Given the description of an element on the screen output the (x, y) to click on. 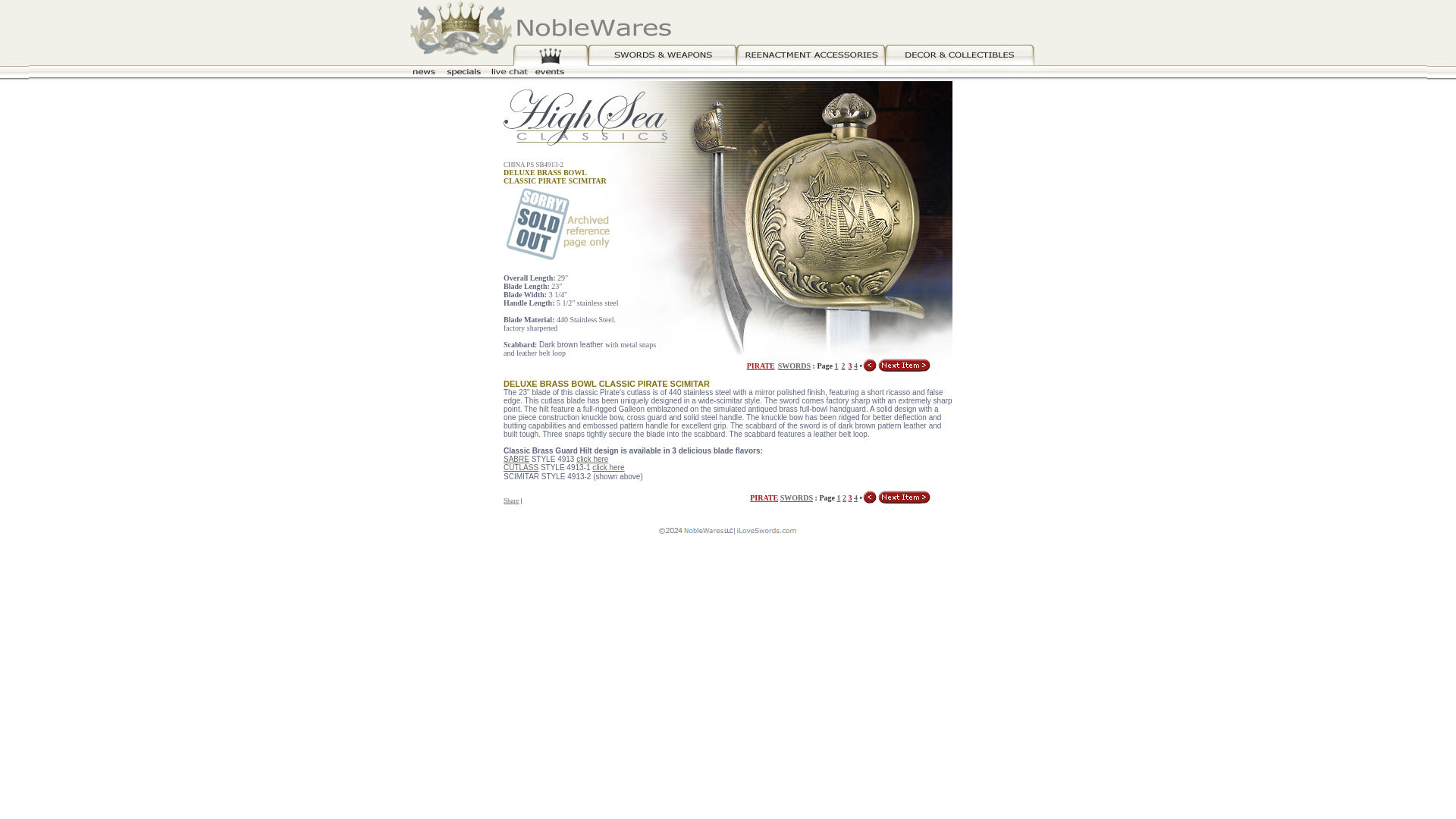
Share (511, 499)
SABRE (516, 459)
CUTLASS (520, 467)
SWORDS (793, 365)
PIRATE (760, 364)
click here (592, 459)
PIRATE (763, 497)
SWORDS (796, 497)
click here (608, 467)
